Given the description of an element on the screen output the (x, y) to click on. 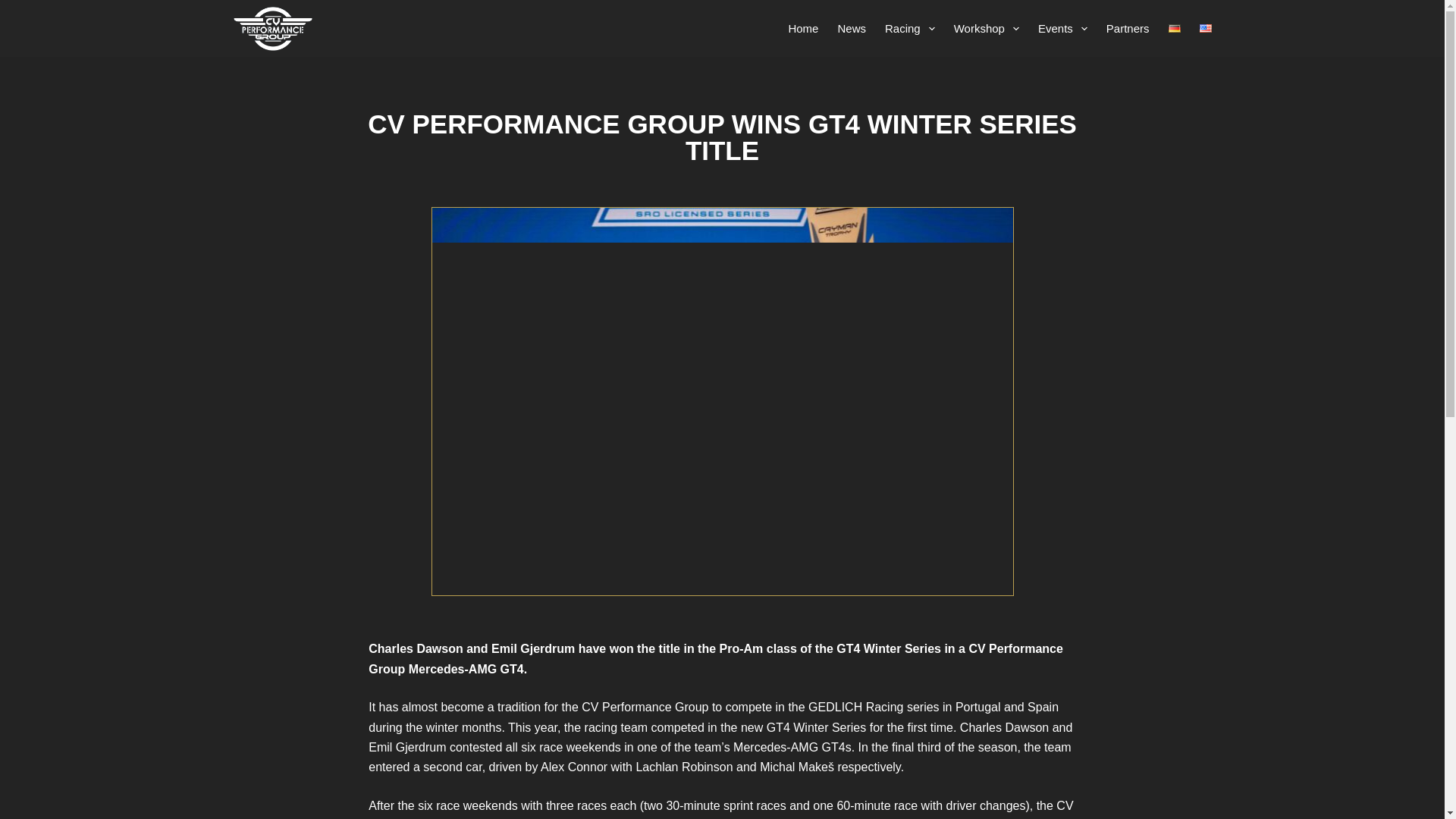
Workshop (985, 28)
Racing (909, 28)
Skip to content (15, 7)
